Given the description of an element on the screen output the (x, y) to click on. 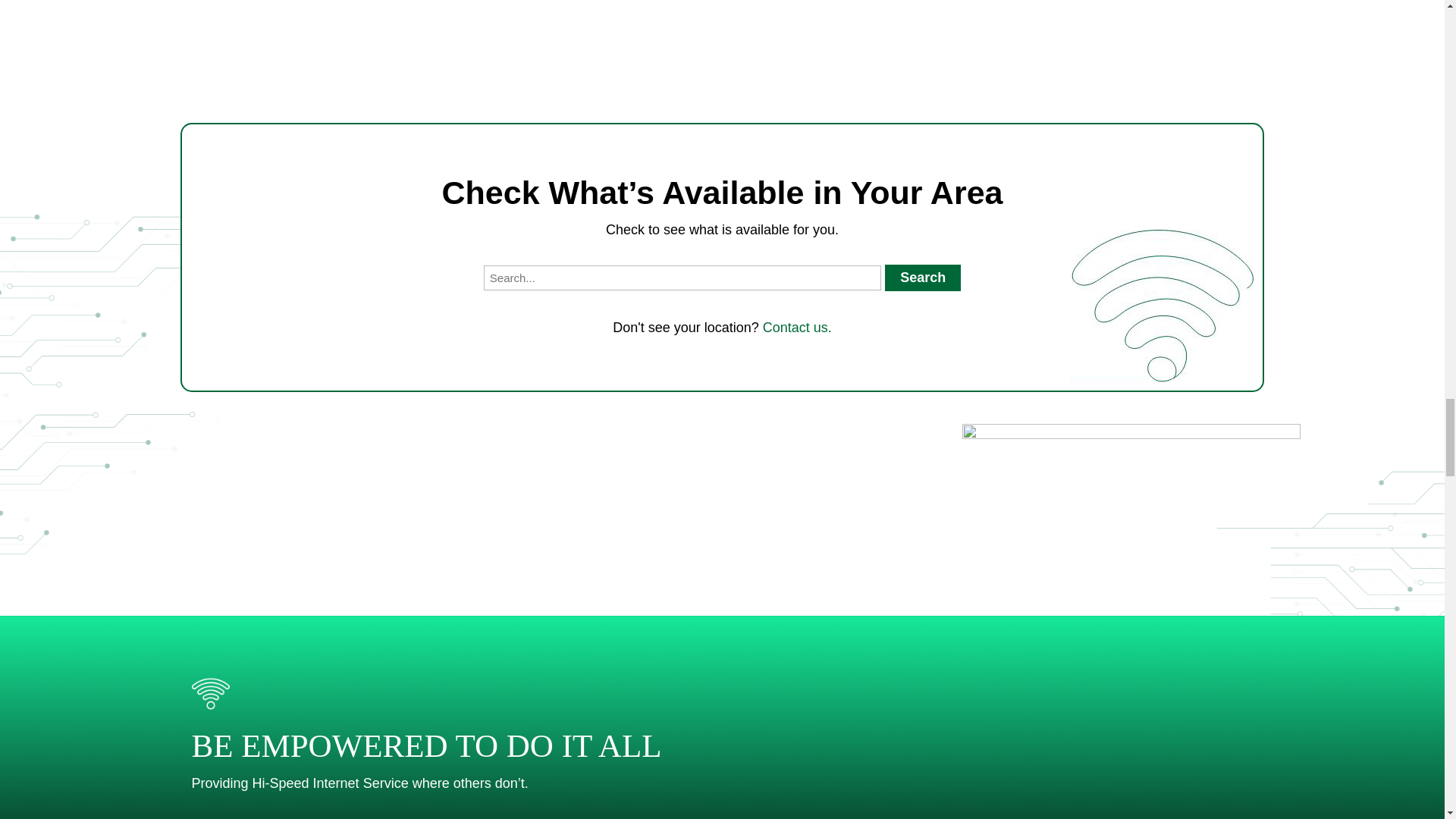
cta-pic-min (1130, 621)
ico-wifi-white (209, 693)
Contact us. (796, 327)
Search (922, 277)
